Given the description of an element on the screen output the (x, y) to click on. 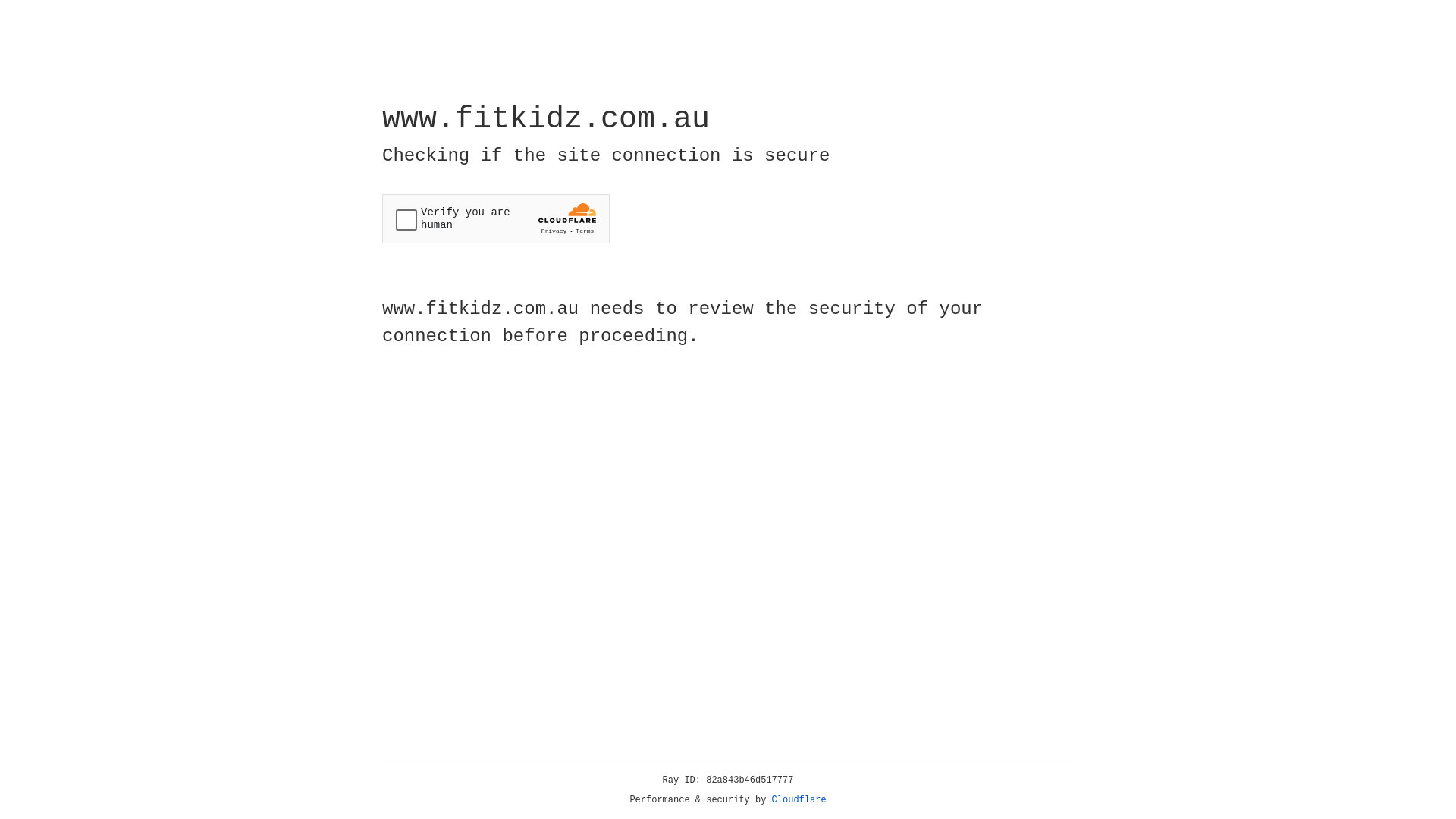
Widget containing a Cloudflare security challenge Element type: hover (495, 218)
Cloudflare Element type: text (798, 799)
